Given the description of an element on the screen output the (x, y) to click on. 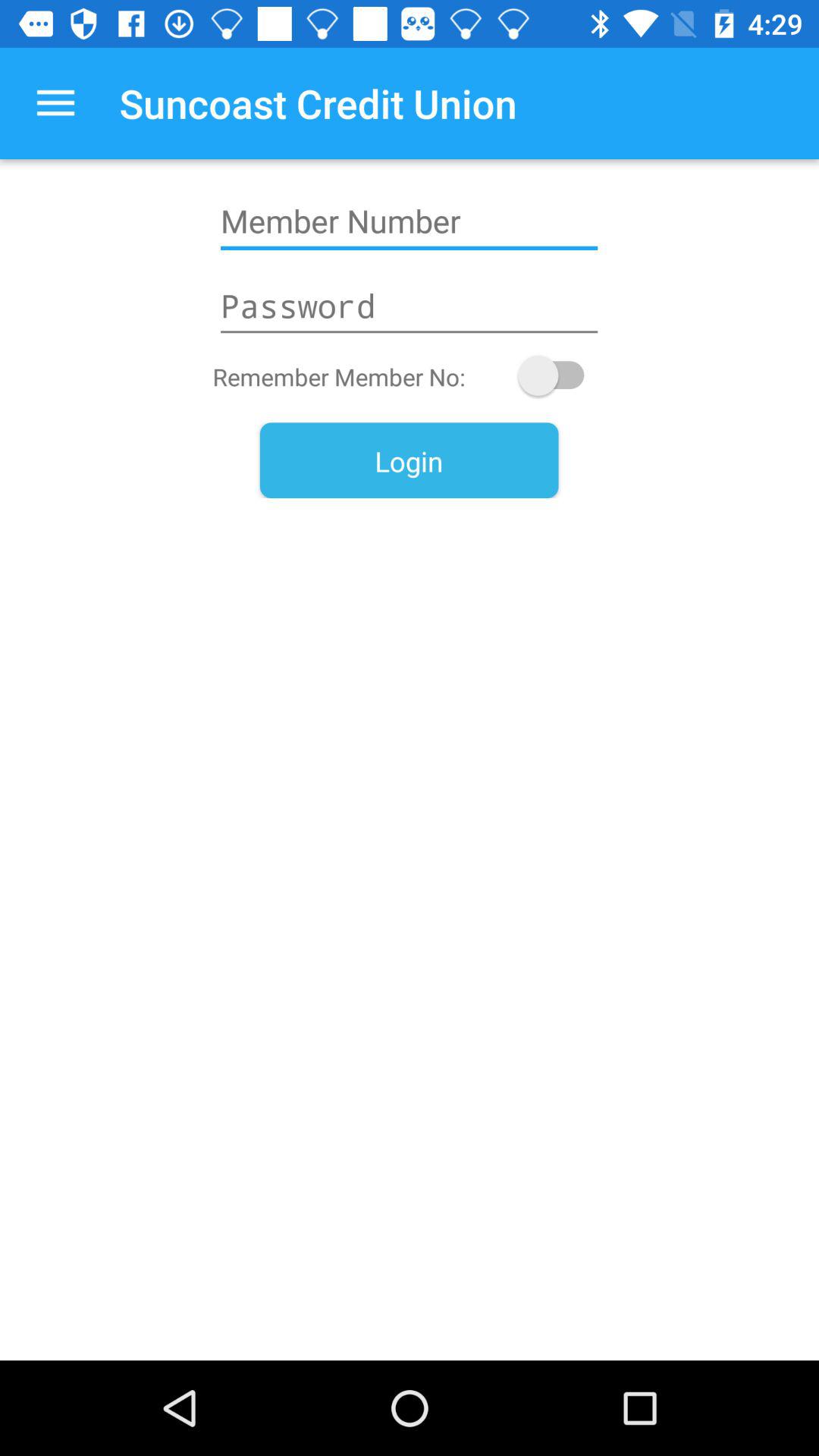
enter member number (408, 221)
